Given the description of an element on the screen output the (x, y) to click on. 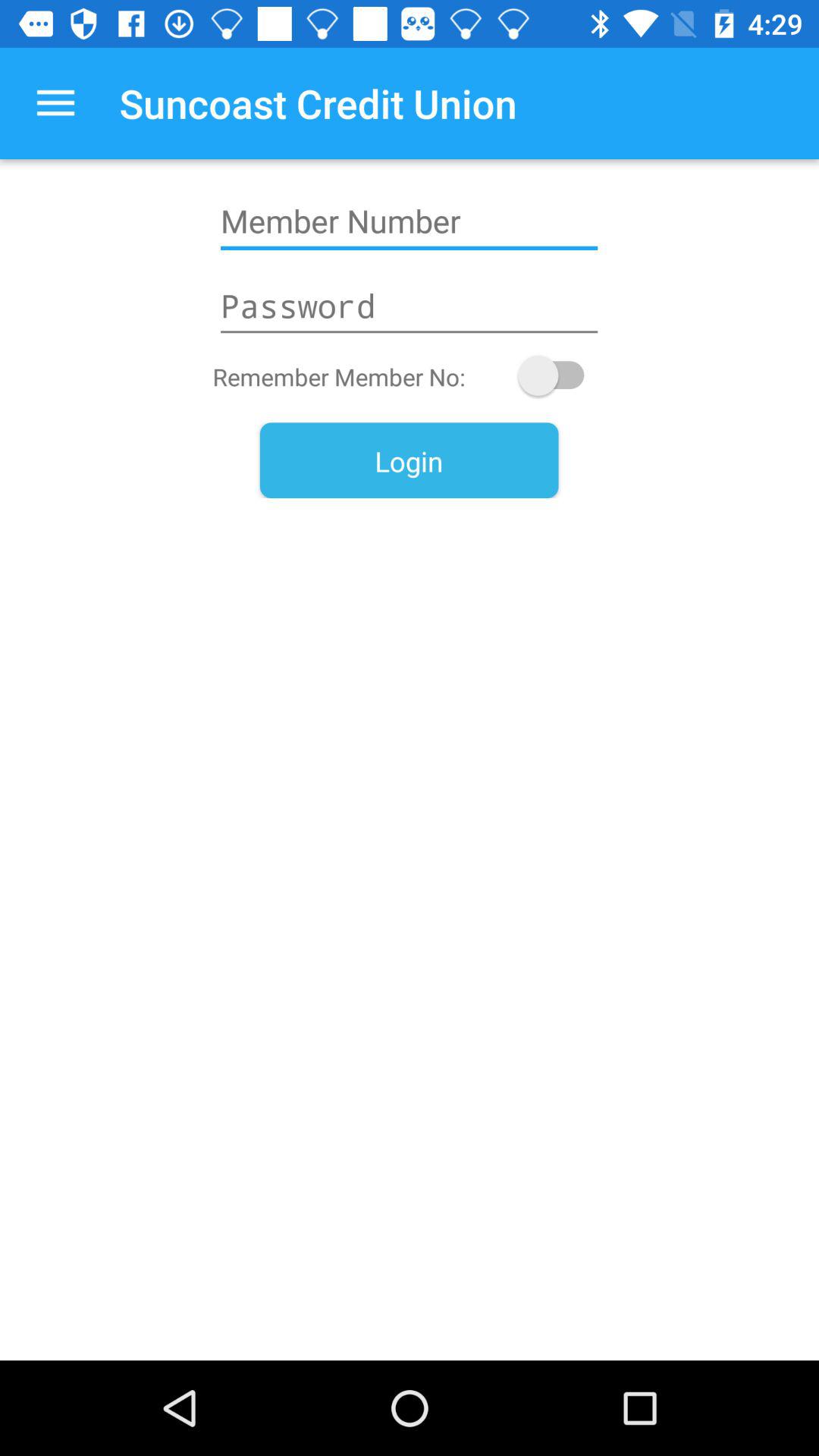
enter member number (408, 221)
